Given the description of an element on the screen output the (x, y) to click on. 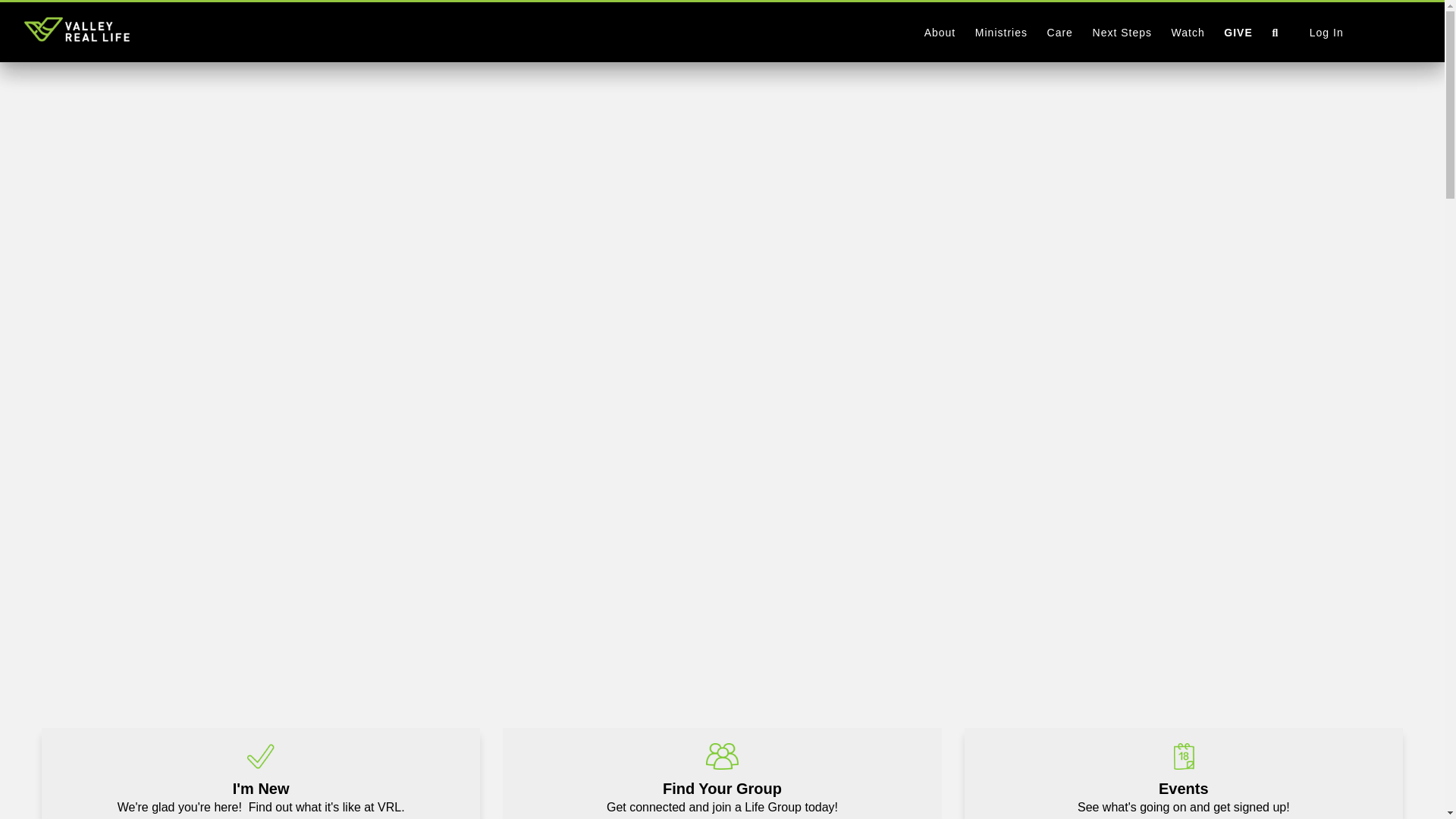
GIVE (1238, 32)
About (939, 32)
Care (1183, 773)
Log In (1059, 32)
Watch (1360, 32)
Next Steps (1187, 32)
Ministries (722, 773)
